Given the description of an element on the screen output the (x, y) to click on. 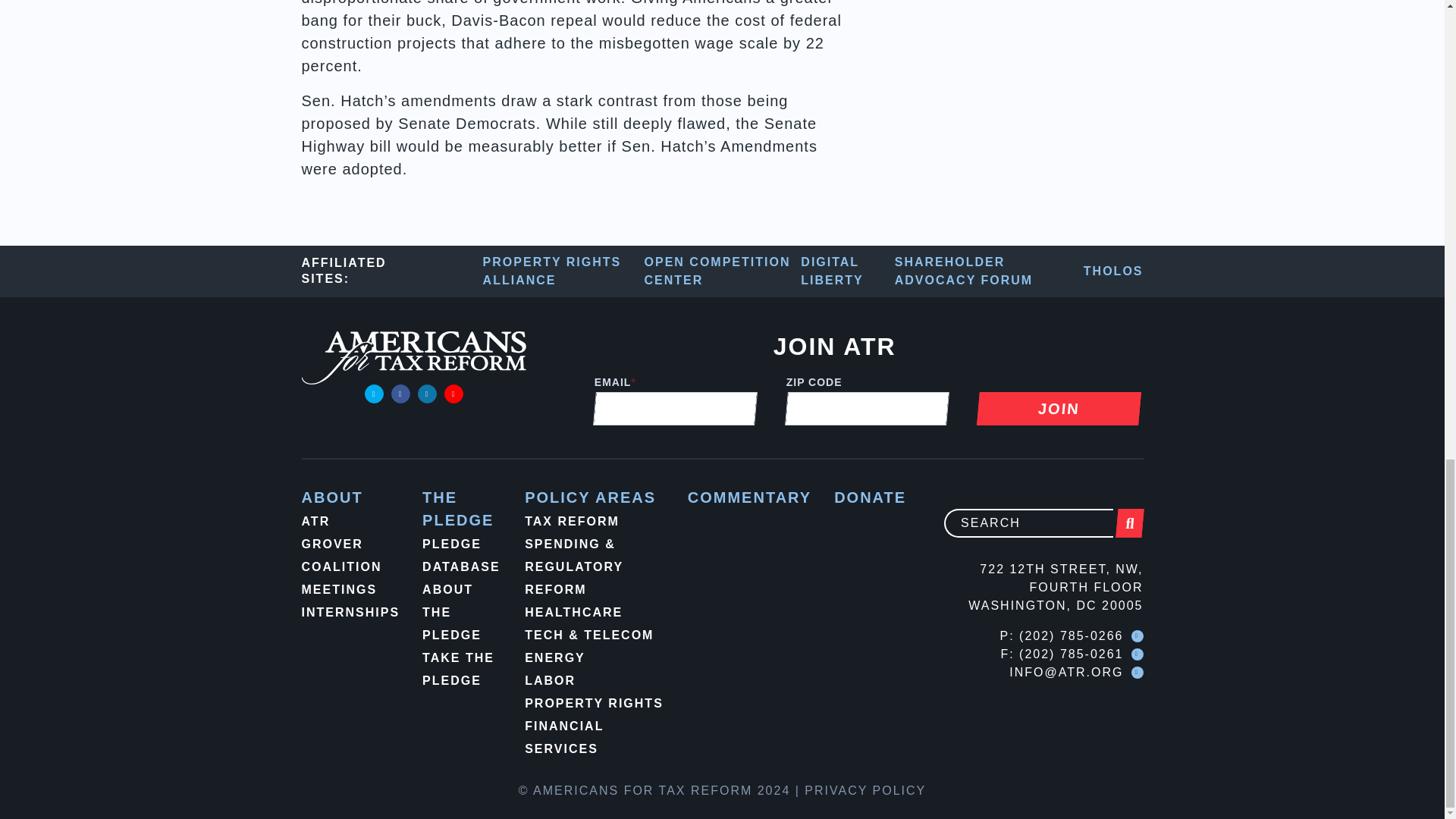
Join (1057, 408)
PROPERTY RIGHTS ALLIANCE (564, 271)
